Given the description of an element on the screen output the (x, y) to click on. 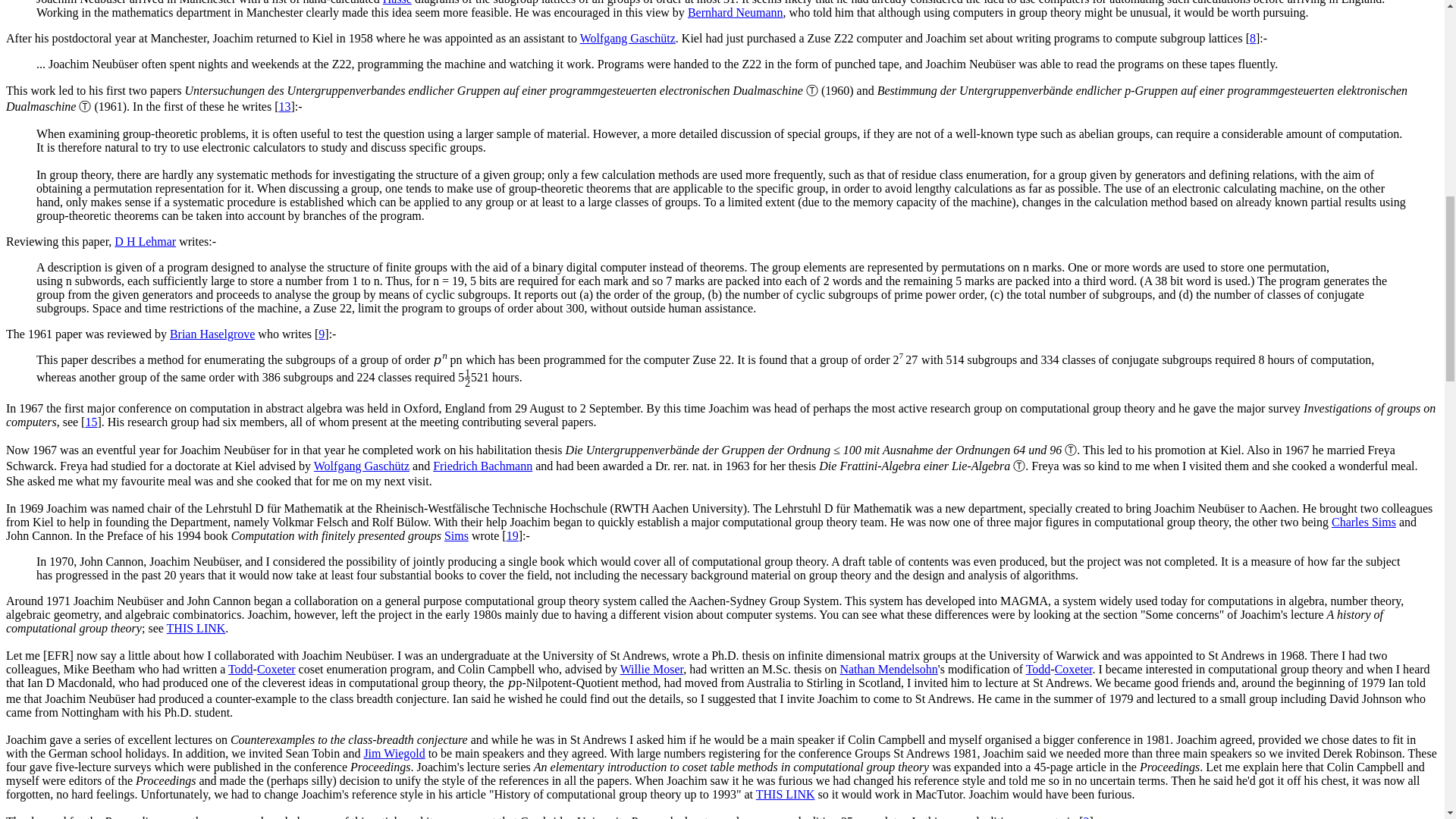
Hasse (397, 2)
Charles Sims (1364, 521)
Bernhard Neumann (735, 11)
15 (90, 421)
Friedrich Bachmann (482, 465)
Sims (456, 535)
D H Lehmar (145, 241)
13 (283, 106)
Brian Haselgrove (212, 333)
